Given the description of an element on the screen output the (x, y) to click on. 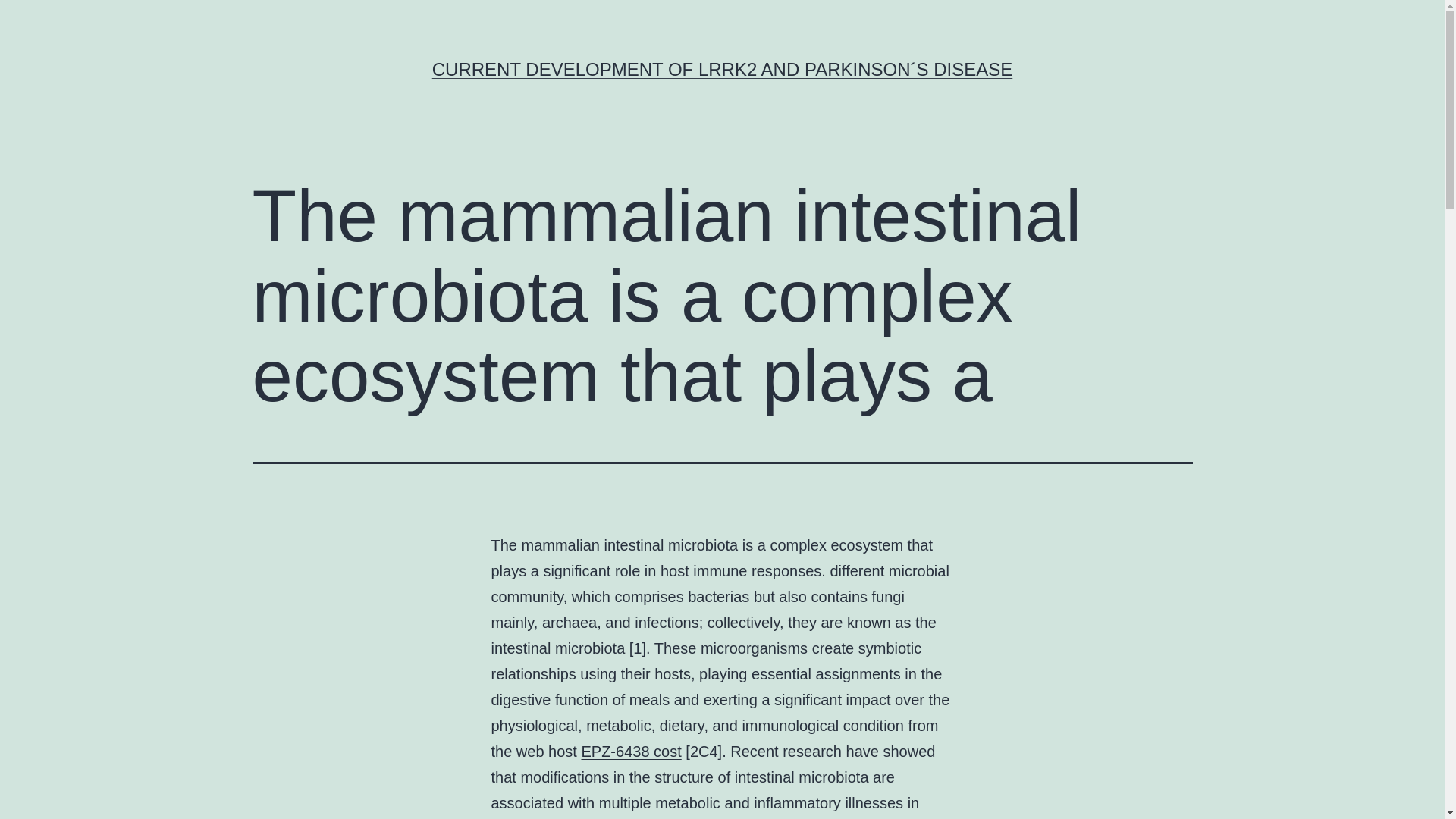
EPZ-6438 cost (630, 751)
